Given the description of an element on the screen output the (x, y) to click on. 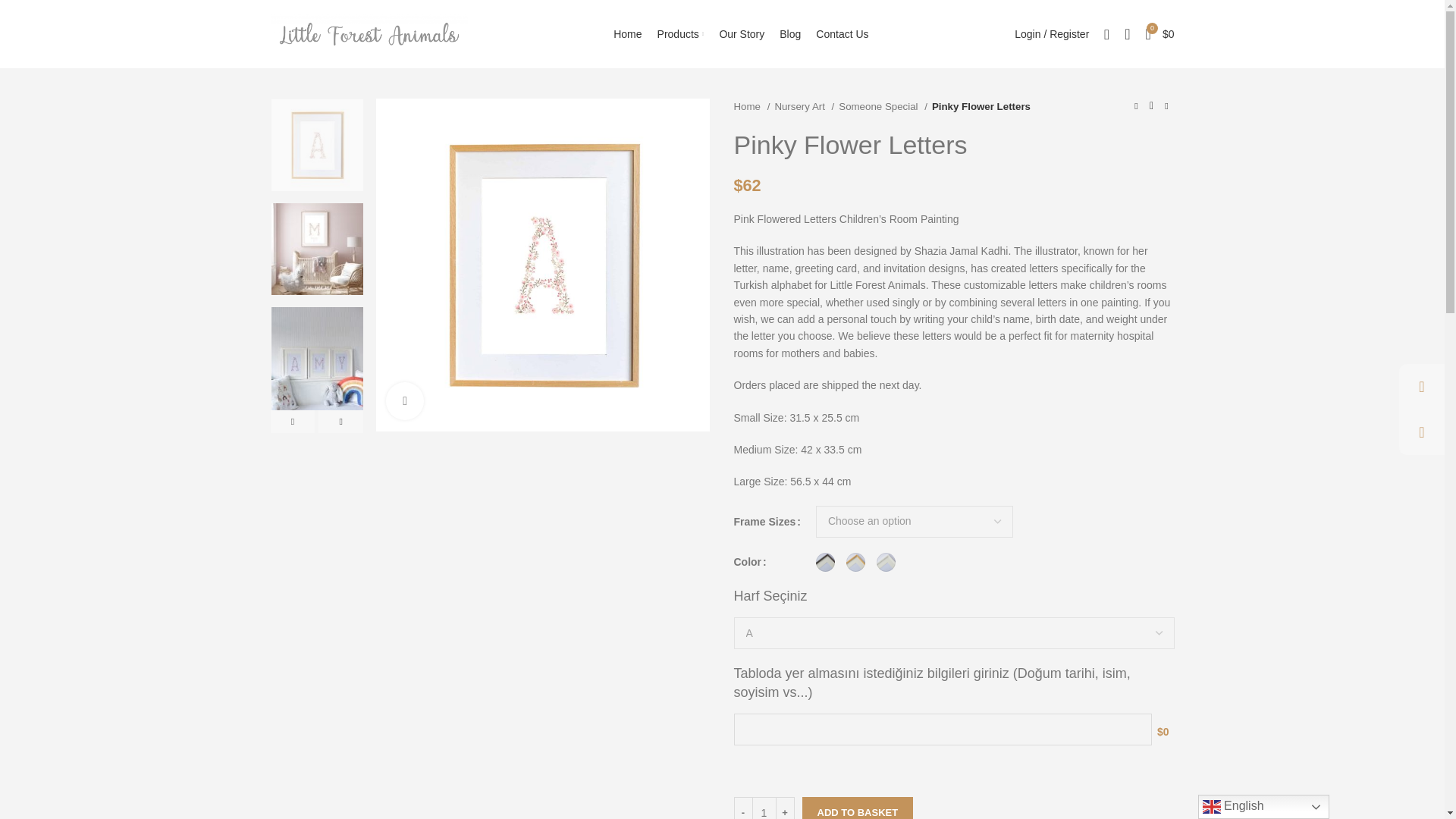
1 (763, 807)
Our Story (741, 33)
Shopping cart (1160, 33)
Home (627, 33)
E3BF8C71-1591-4F8D-81BC-ED523842D1B9 (542, 264)
Blog (789, 33)
Contact Us (842, 33)
My account (1051, 33)
Products (680, 33)
